Given the description of an element on the screen output the (x, y) to click on. 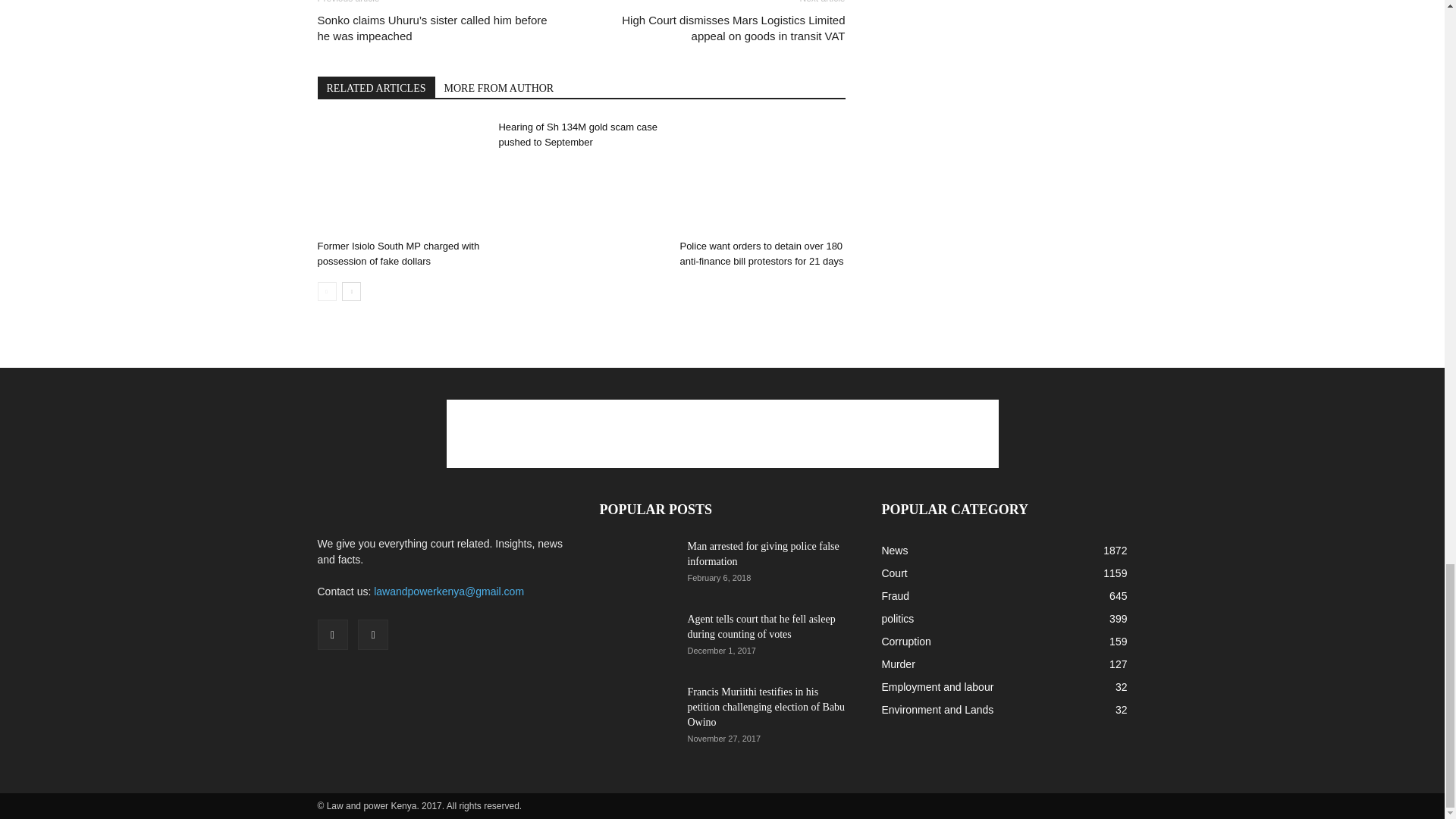
Hearing of Sh 134M gold scam case pushed to September (577, 134)
